Given the description of an element on the screen output the (x, y) to click on. 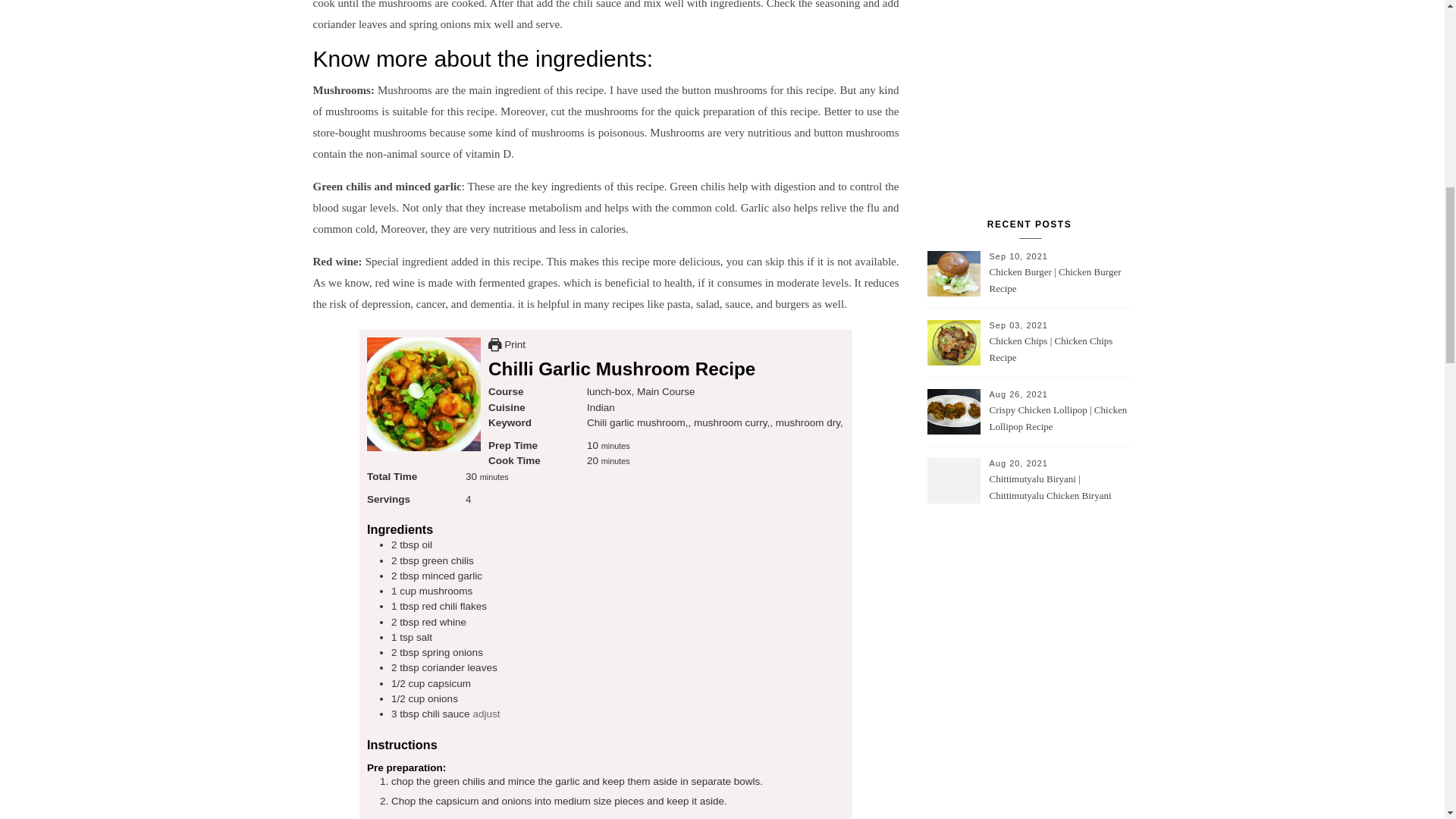
Advertisement (1040, 83)
Print (506, 344)
